Given the description of an element on the screen output the (x, y) to click on. 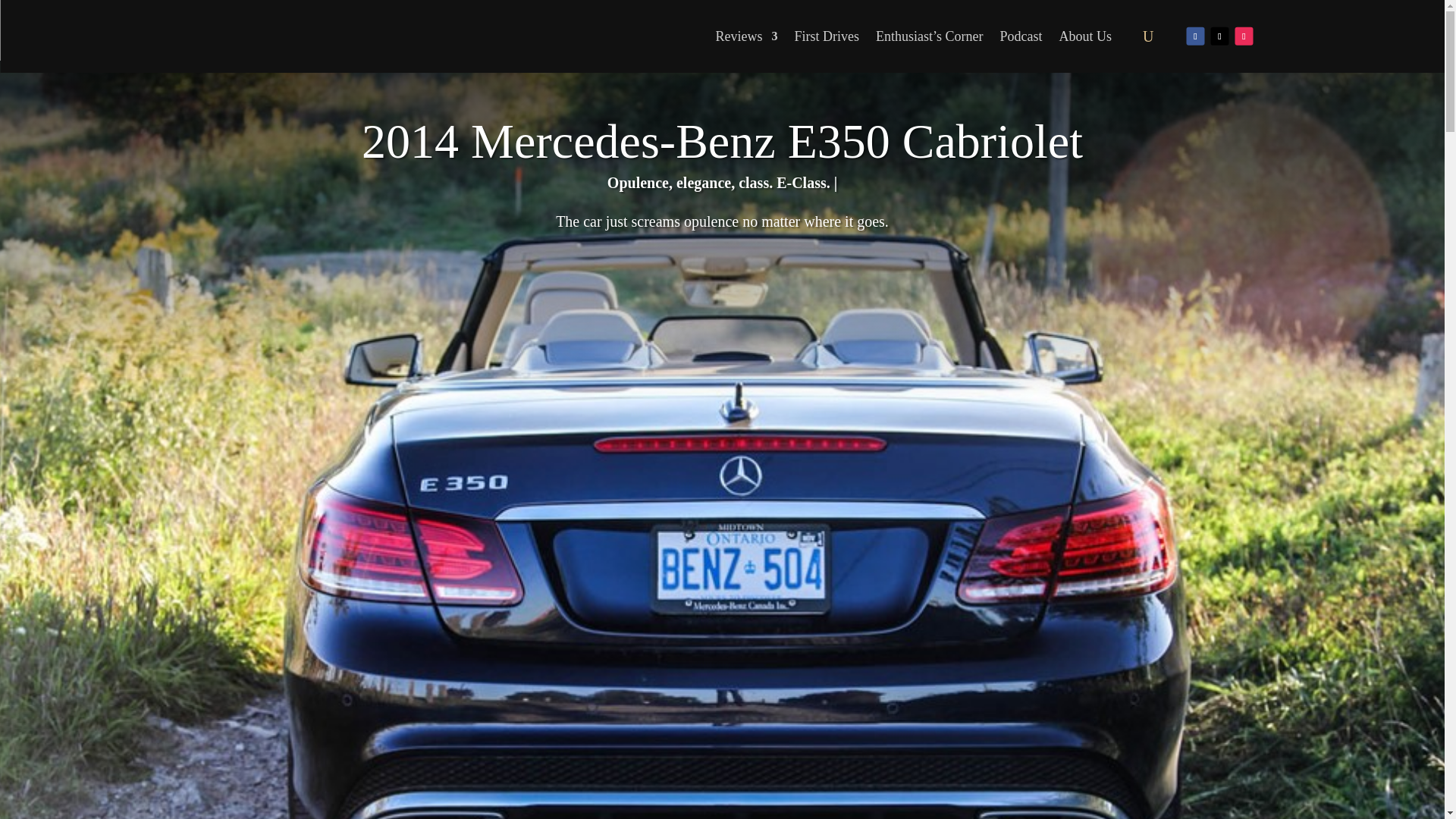
Reviews (746, 36)
First Drives (827, 36)
Follow on Instagram (1243, 35)
About Us (1085, 36)
Follow on Facebook (1195, 35)
Follow on X (1218, 35)
